Given the description of an element on the screen output the (x, y) to click on. 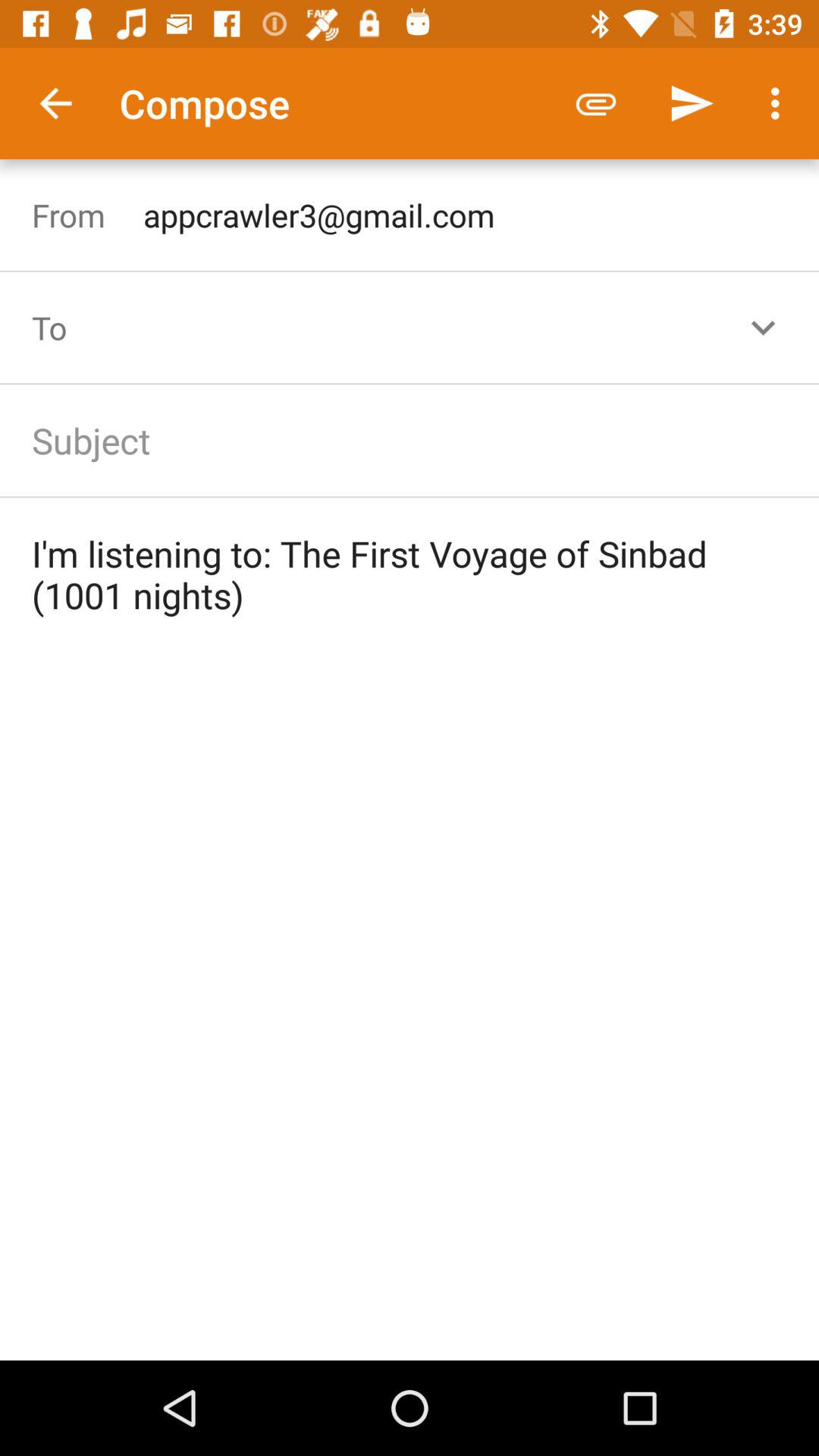
press icon above the appcrawler3@gmail.com (595, 103)
